Given the description of an element on the screen output the (x, y) to click on. 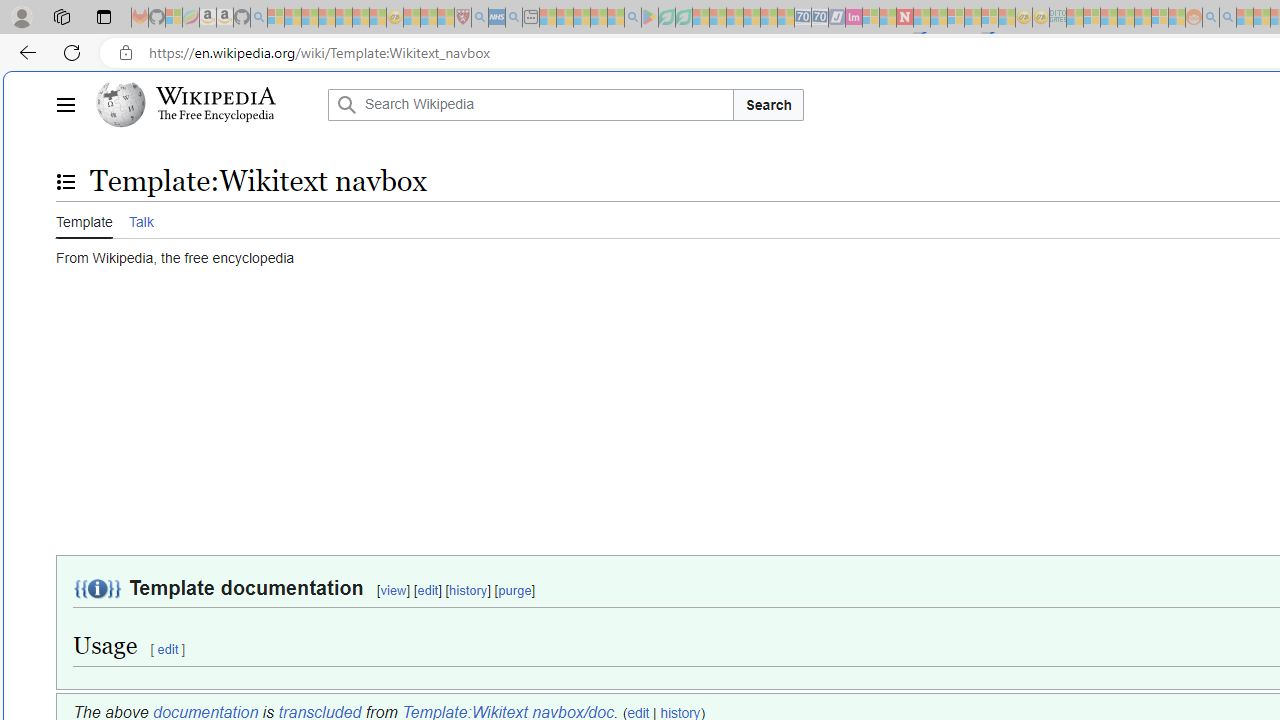
Template (84, 219)
